Given the description of an element on the screen output the (x, y) to click on. 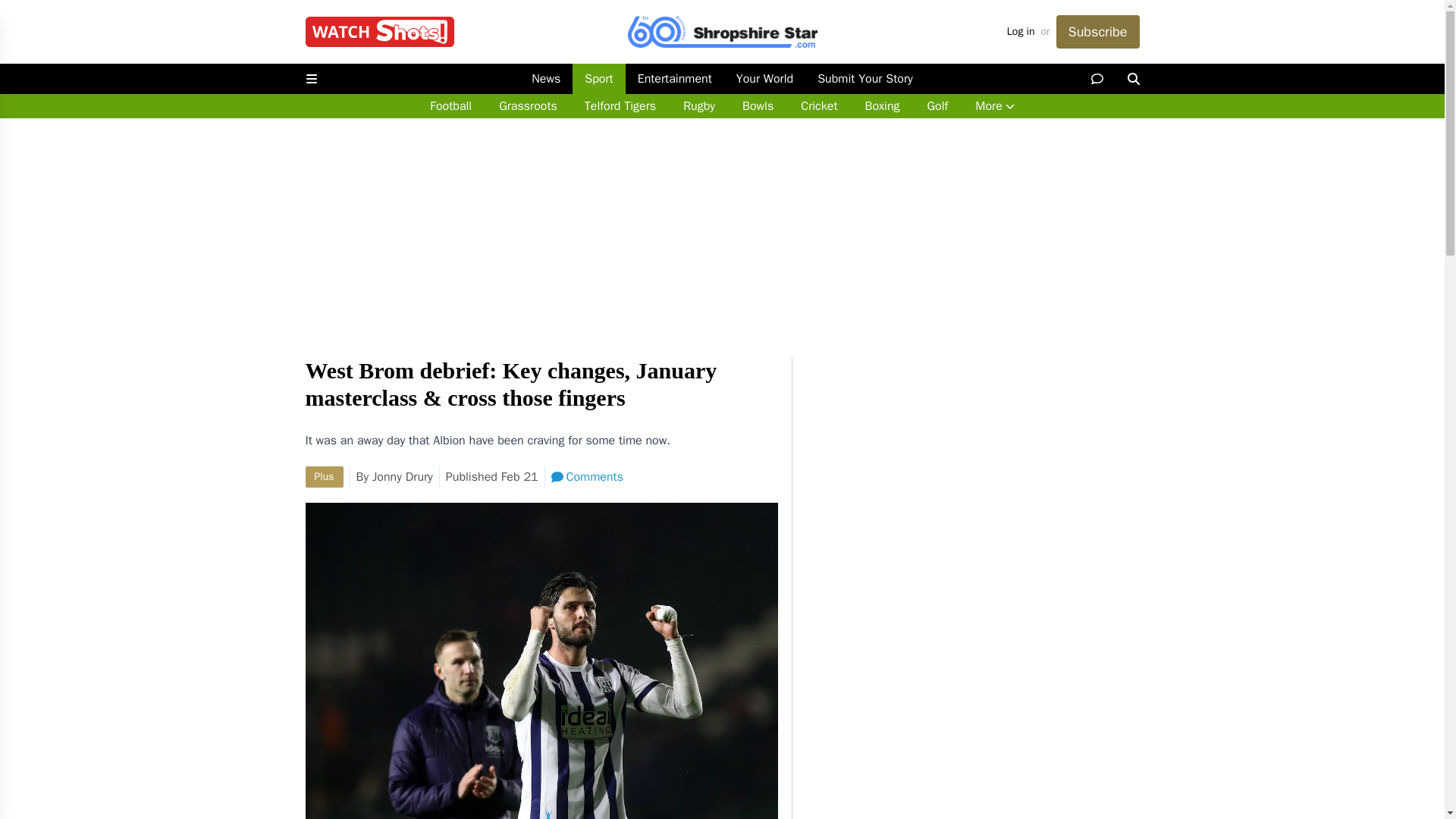
Grassroots (527, 105)
Your World (764, 78)
More (994, 105)
Rugby (698, 105)
Cricket (818, 105)
Submit Your Story (864, 78)
Bowls (758, 105)
Sport (598, 78)
News (545, 78)
Log in (1021, 31)
